Given the description of an element on the screen output the (x, y) to click on. 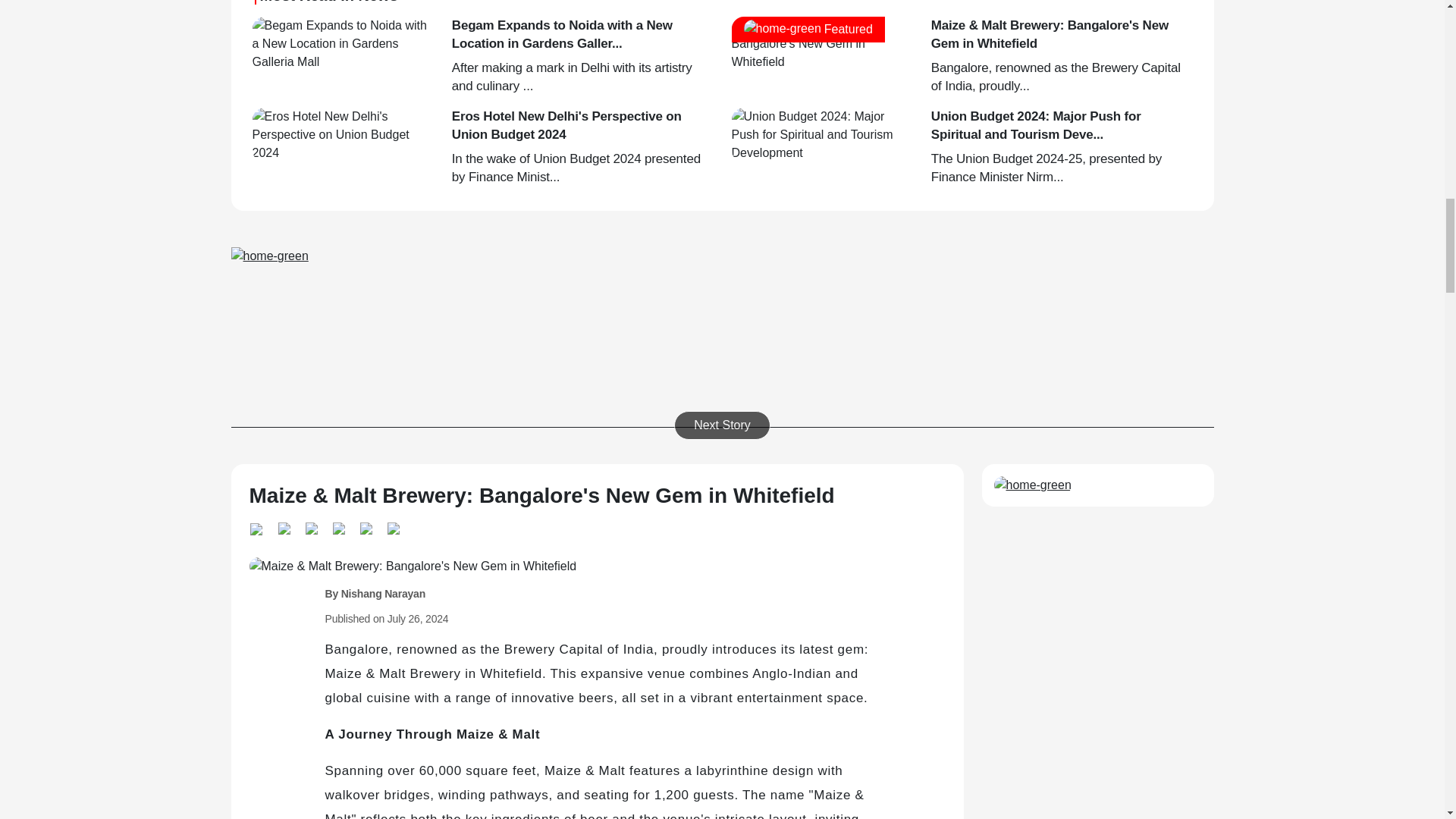
Whatsapp (258, 526)
Facebook (338, 526)
Twitter (310, 526)
Linkedin (283, 526)
Copy (365, 526)
Save (392, 526)
